Given the description of an element on the screen output the (x, y) to click on. 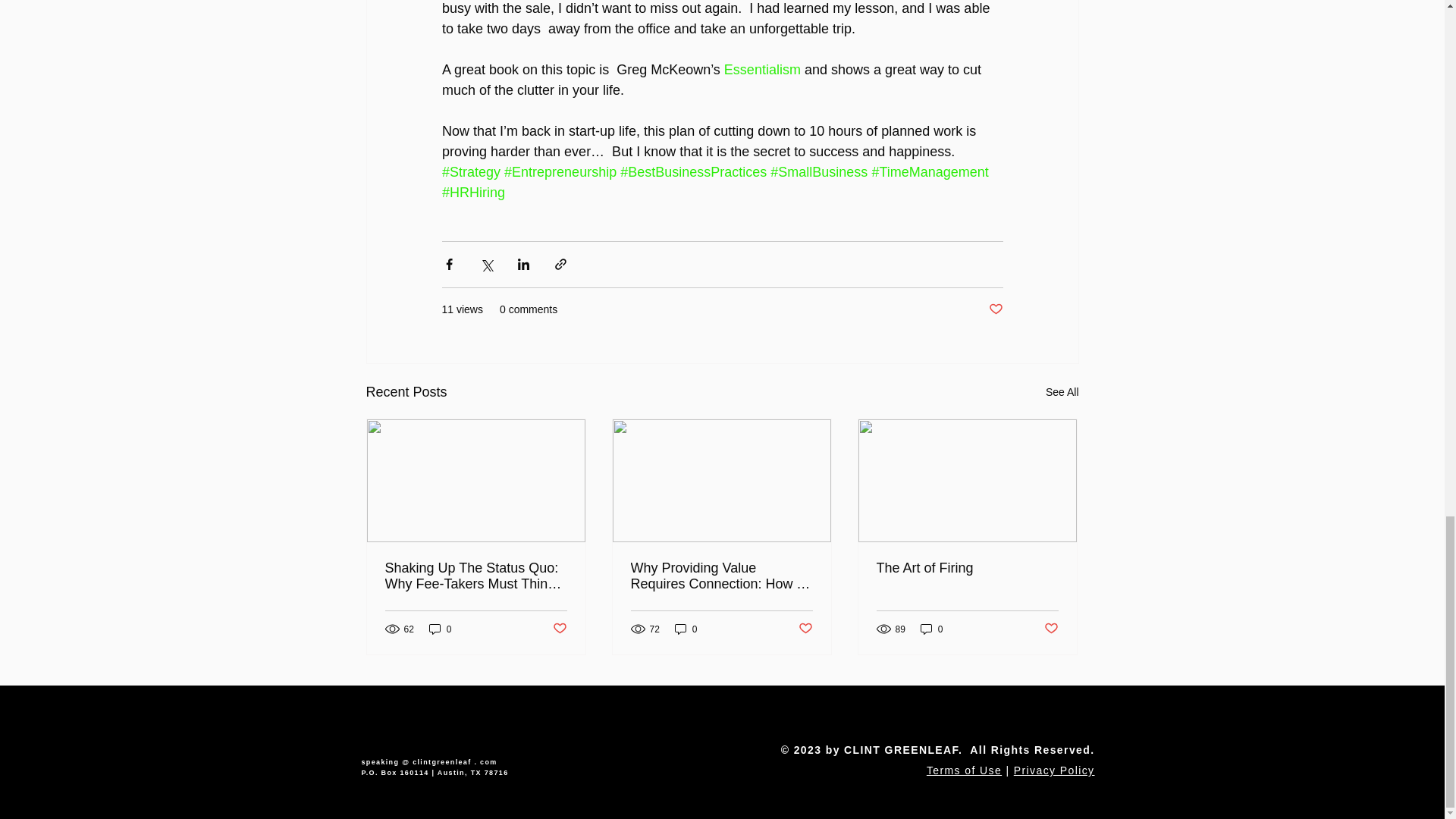
Post not marked as liked (558, 628)
Post not marked as liked (995, 309)
See All (1061, 392)
0 (440, 628)
The Art of Firing (967, 568)
Essentialism (761, 69)
Post not marked as liked (804, 628)
Post not marked as liked (1050, 628)
